Given the description of an element on the screen output the (x, y) to click on. 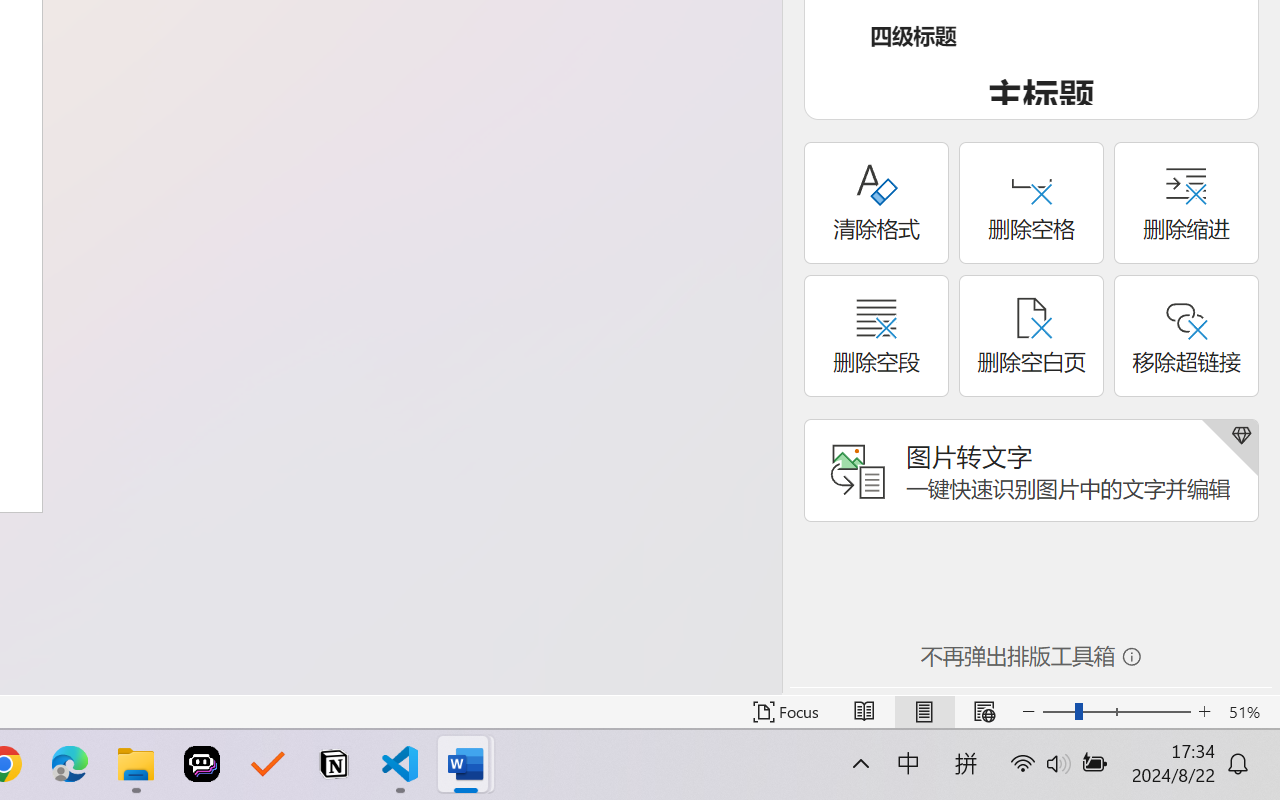
Zoom 51% (1249, 712)
